Given the description of an element on the screen output the (x, y) to click on. 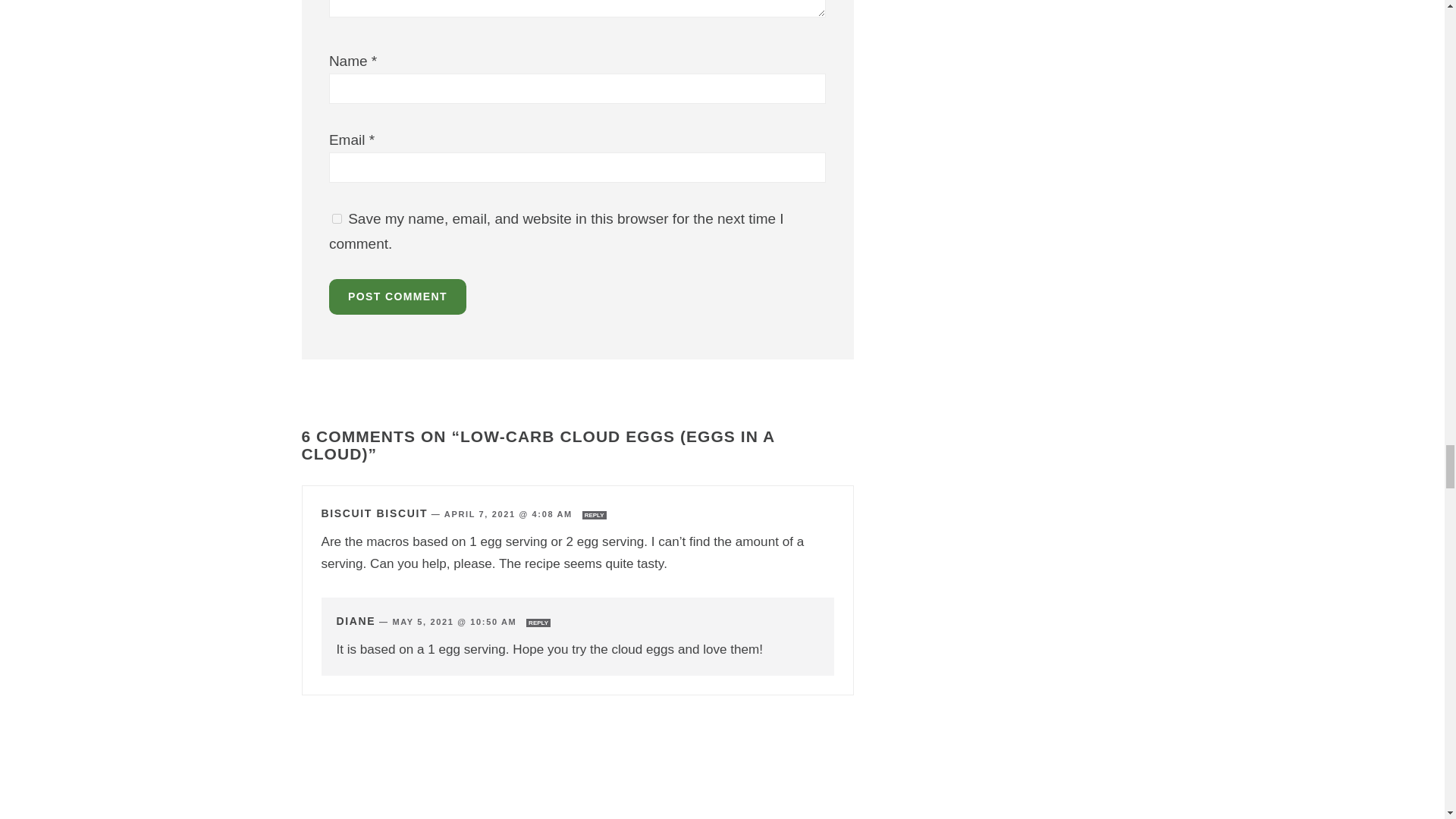
yes (336, 218)
Post Comment (397, 296)
